Given the description of an element on the screen output the (x, y) to click on. 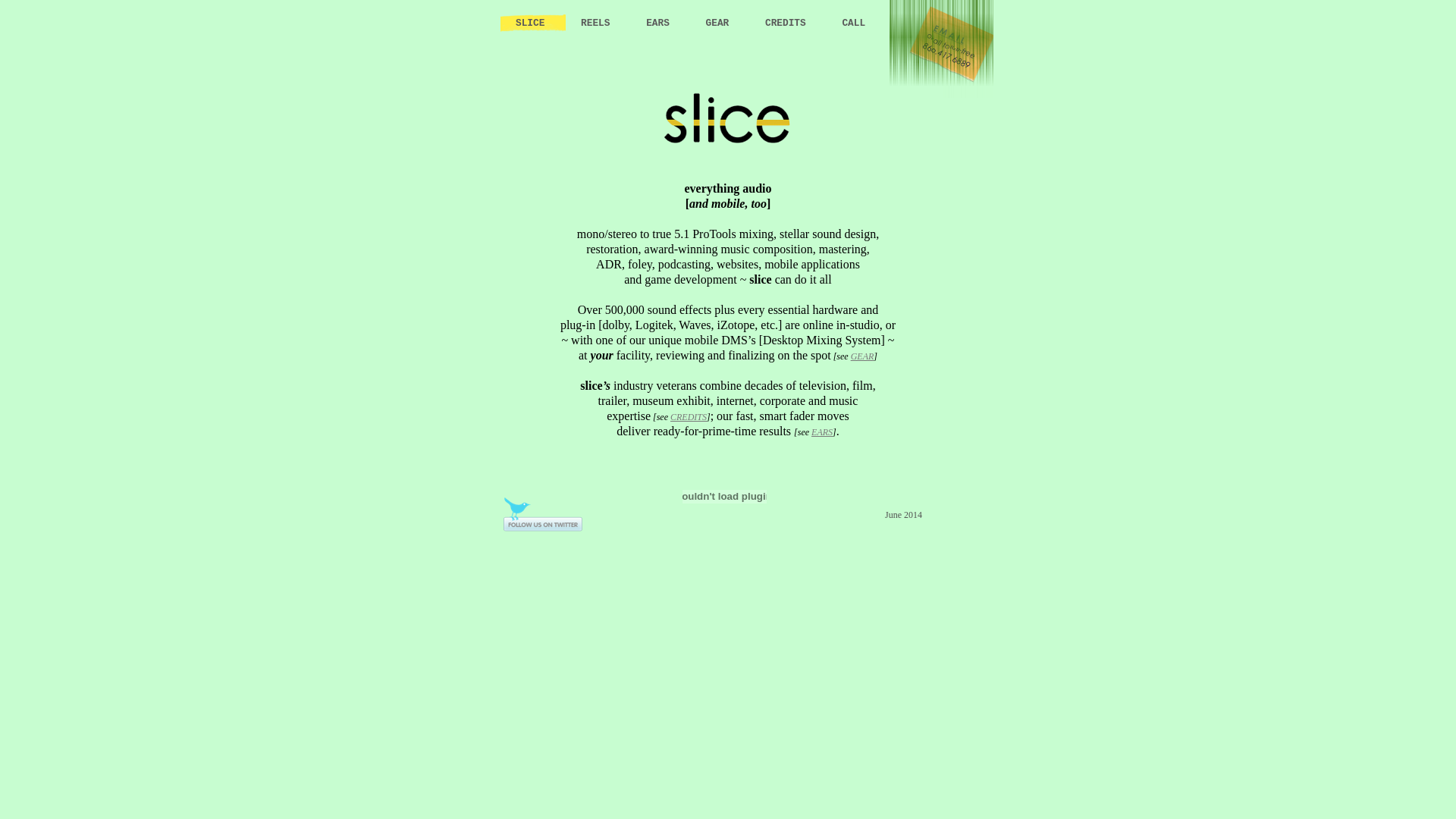
http://twitter.com/slice_dot_bz Element type: hover (542, 530)
CALL Element type: text (853, 22)
EARS Element type: text (821, 431)
GEAR Element type: text (862, 356)
EARS Element type: text (660, 22)
CREDITS Element type: text (688, 416)
CREDITS Element type: text (787, 22)
SLICE Element type: text (532, 22)
GEAR Element type: text (719, 22)
REELS Element type: text (597, 22)
